Given the description of an element on the screen output the (x, y) to click on. 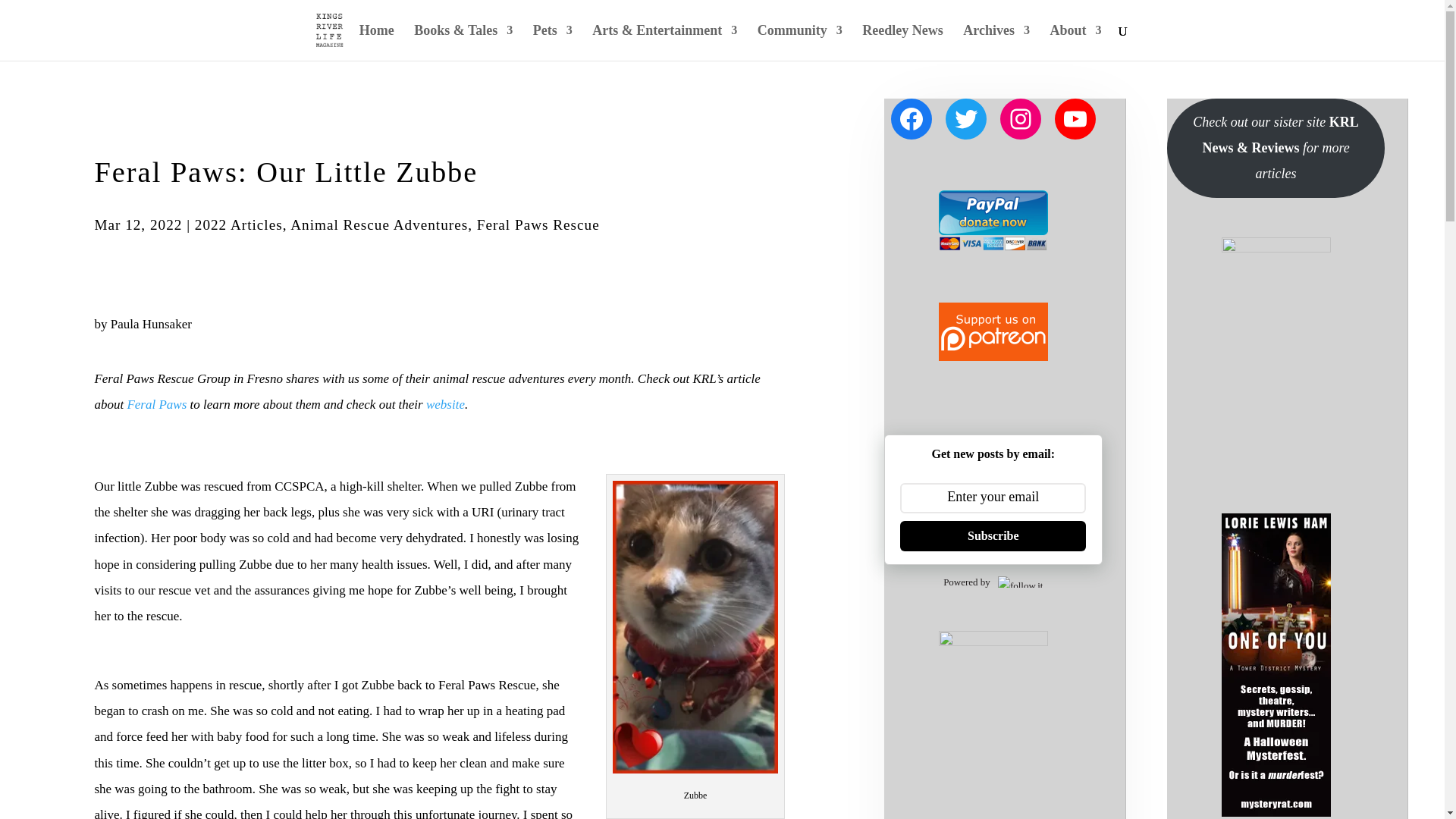
Community (800, 42)
Archives (995, 42)
Home (376, 42)
Reedley News (901, 42)
Pets (552, 42)
